Given the description of an element on the screen output the (x, y) to click on. 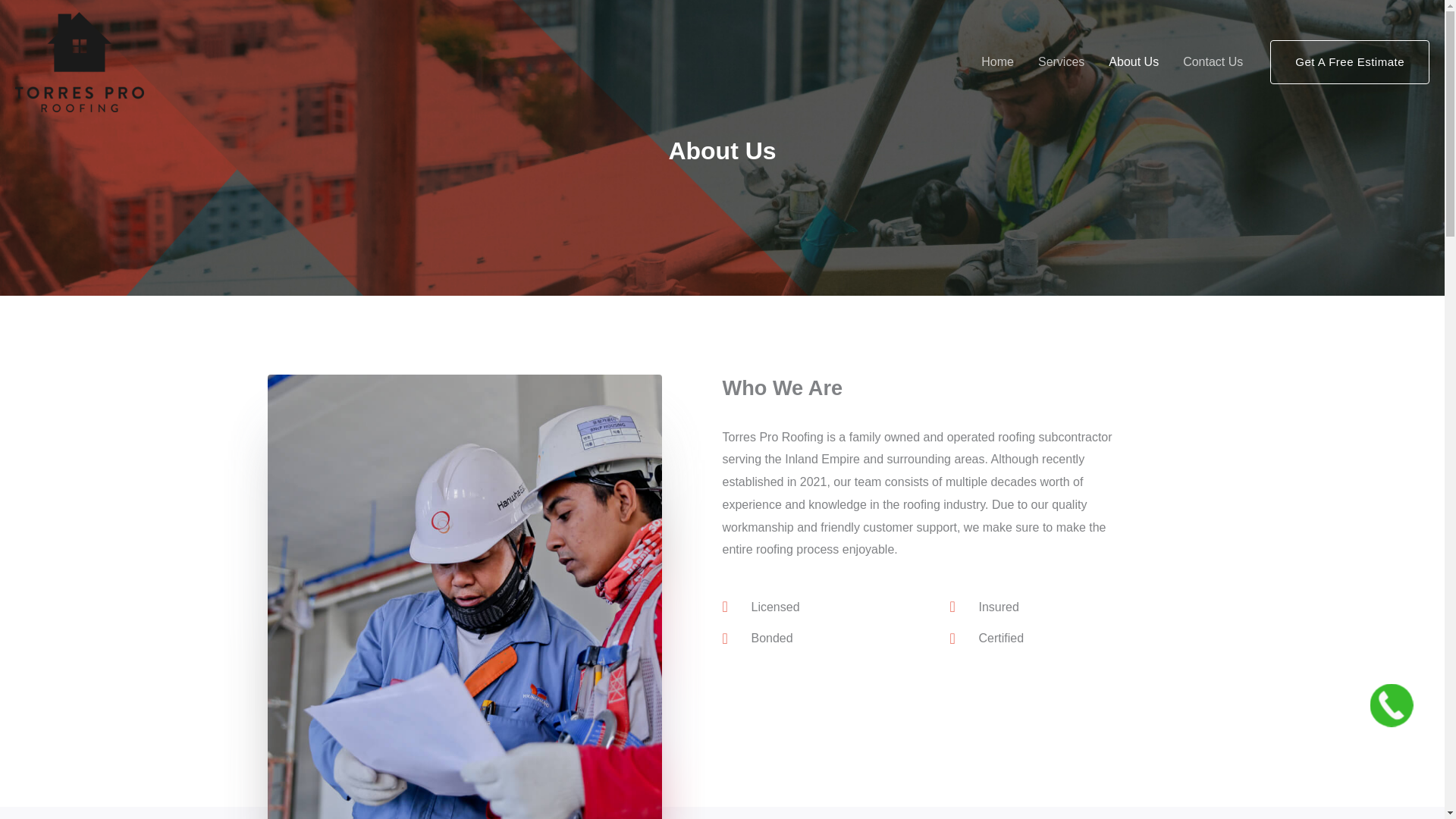
Home (997, 62)
About Us (1133, 62)
Contact Us (1212, 62)
Services (1061, 62)
Get A Free Estimate (1349, 62)
